Given the description of an element on the screen output the (x, y) to click on. 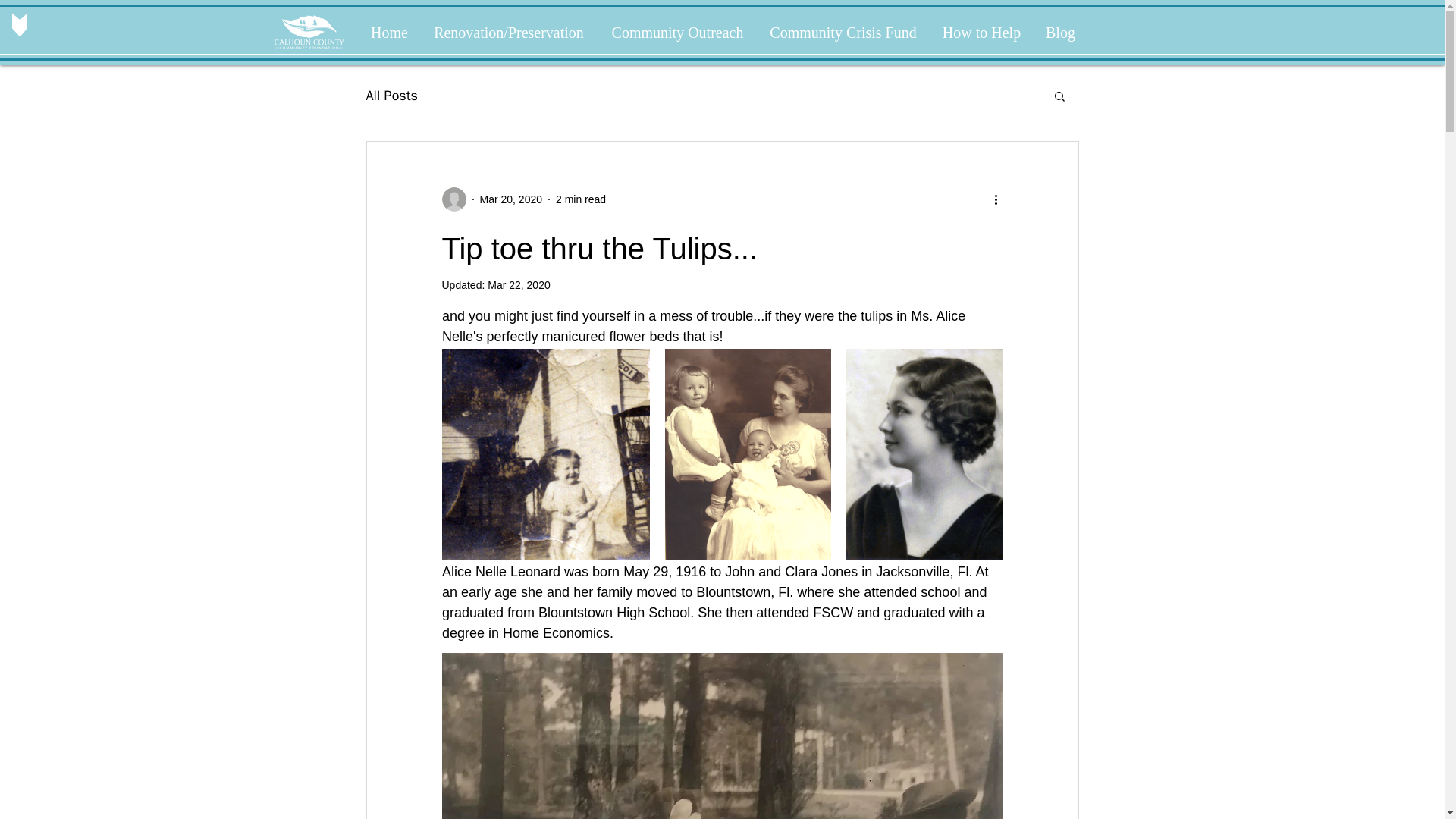
All Posts (390, 95)
Mar 22, 2020 (518, 285)
Mar 20, 2020 (510, 198)
Home (389, 32)
Blog (1059, 32)
2 min read (580, 198)
Community Crisis Fund (842, 32)
